Given the description of an element on the screen output the (x, y) to click on. 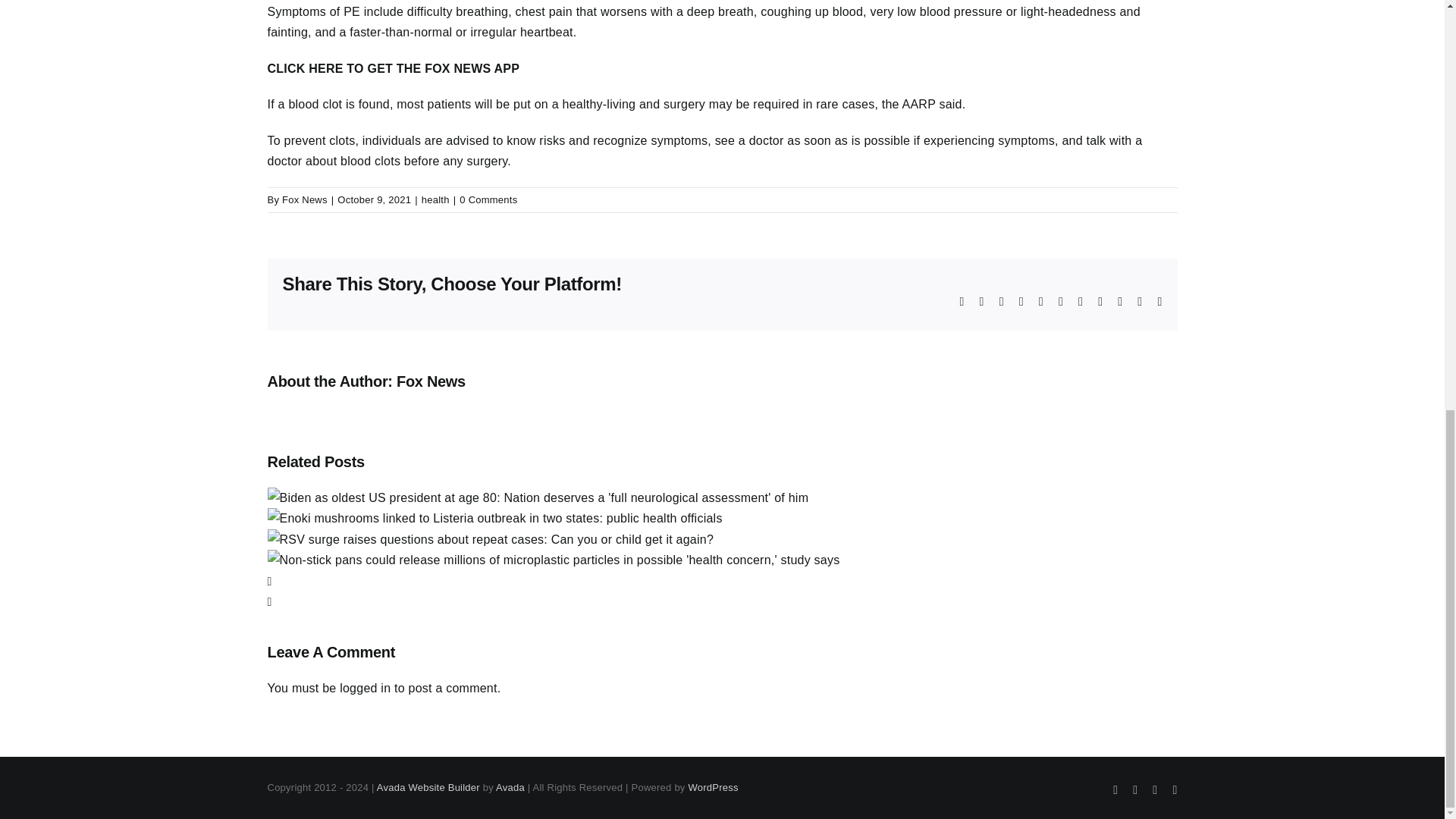
health (435, 199)
Posts by Fox News (304, 199)
CLICK HERE TO GET THE FOX NEWS APP (392, 68)
healthy-living (599, 103)
0 Comments (488, 199)
Fox News (304, 199)
